Given the description of an element on the screen output the (x, y) to click on. 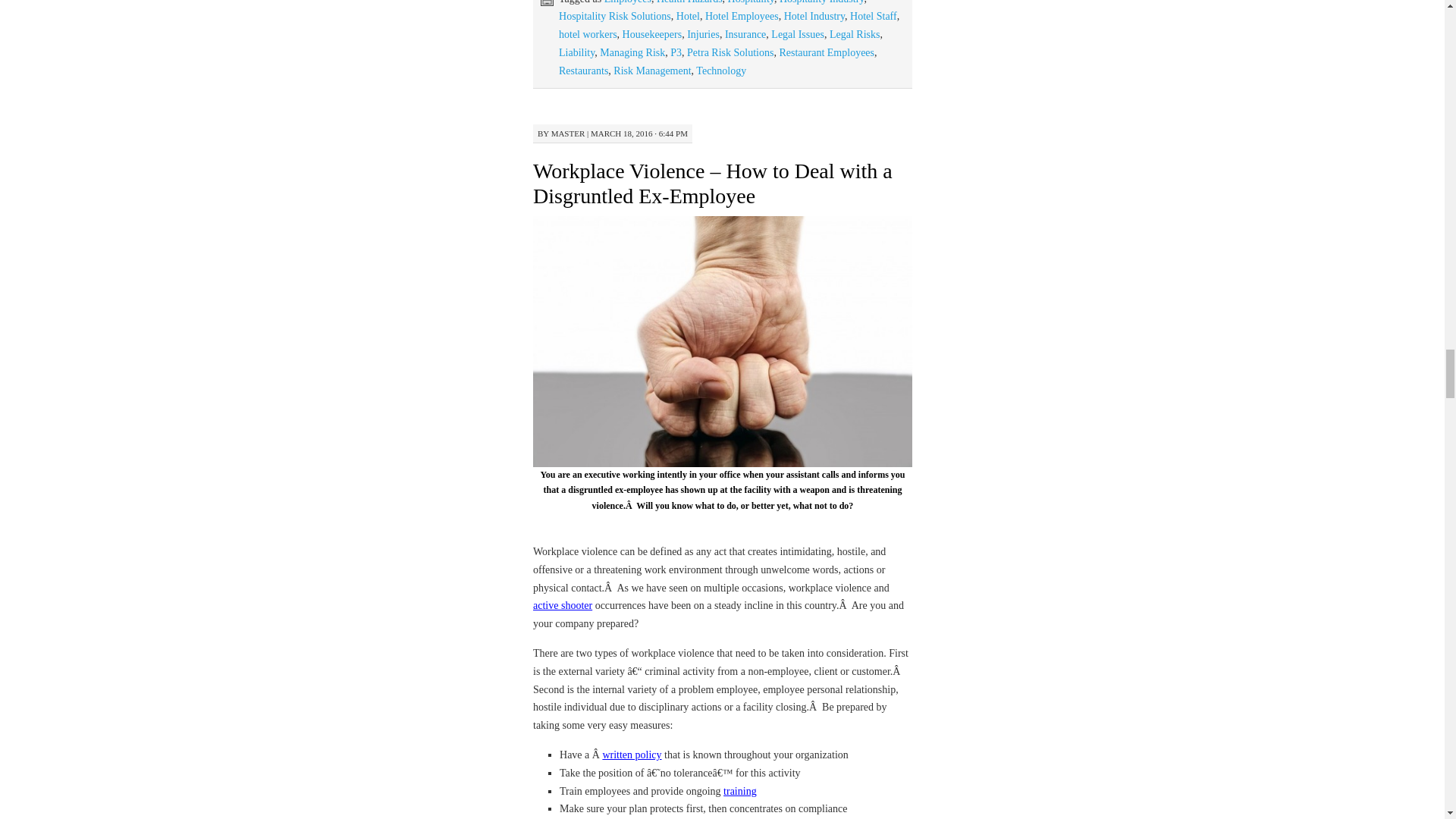
View all posts by master (568, 133)
